Given the description of an element on the screen output the (x, y) to click on. 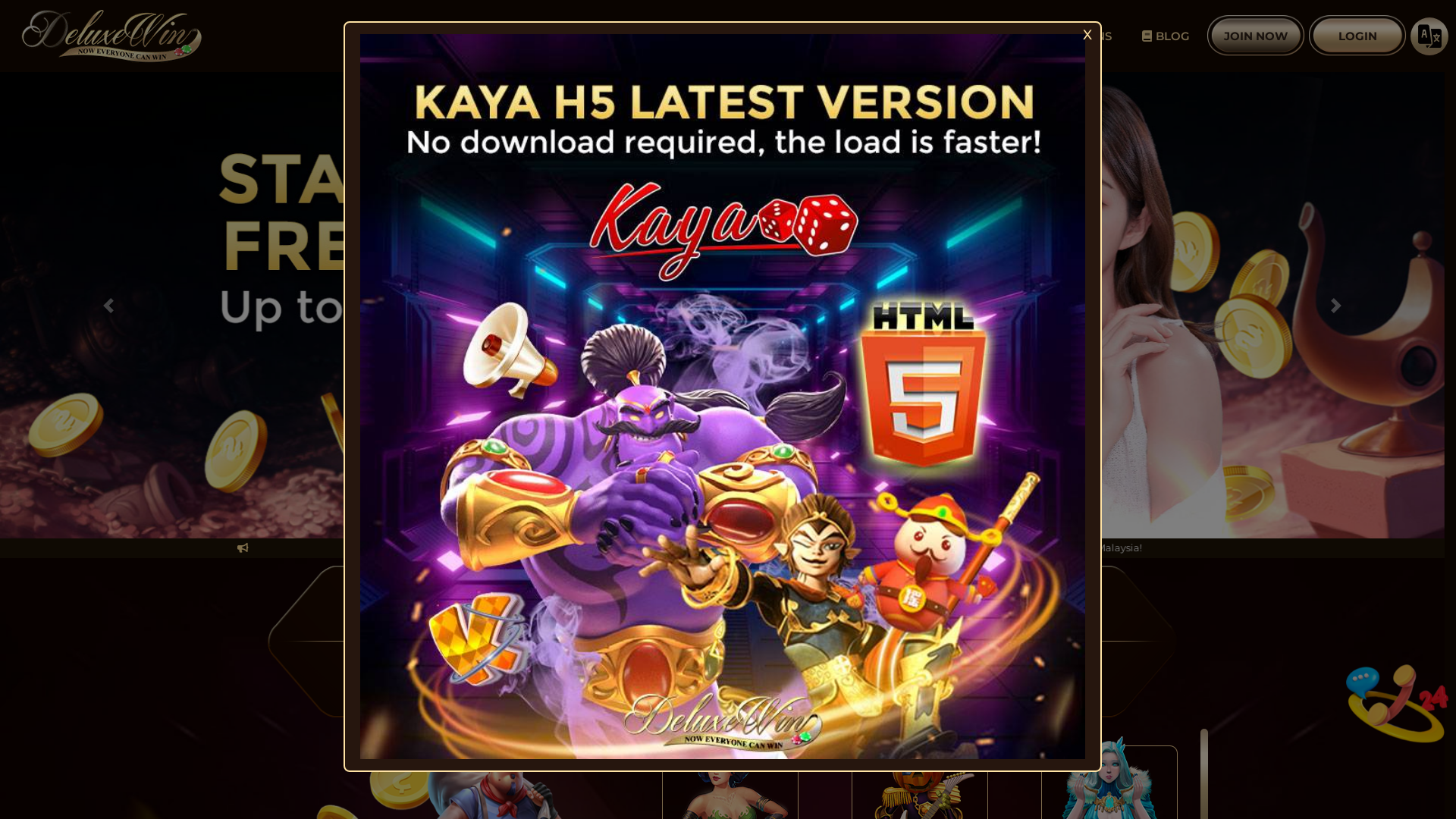
HOME Element type: text (770, 36)
SLOTS Element type: text (411, 641)
Previous Element type: text (108, 305)
FISHING Element type: text (880, 641)
BLOG Element type: text (1165, 36)
ALL GAMES Element type: text (870, 36)
Next Element type: text (1335, 305)
CASINO Element type: text (569, 641)
VIP Element type: text (963, 36)
JOIN NOW Element type: text (1255, 35)
LOGIN Element type: text (1357, 35)
SPORTS Element type: text (724, 641)
PROMOTIONS Element type: text (1062, 36)
4D Element type: text (1035, 641)
X Element type: text (1087, 35)
